Given the description of an element on the screen output the (x, y) to click on. 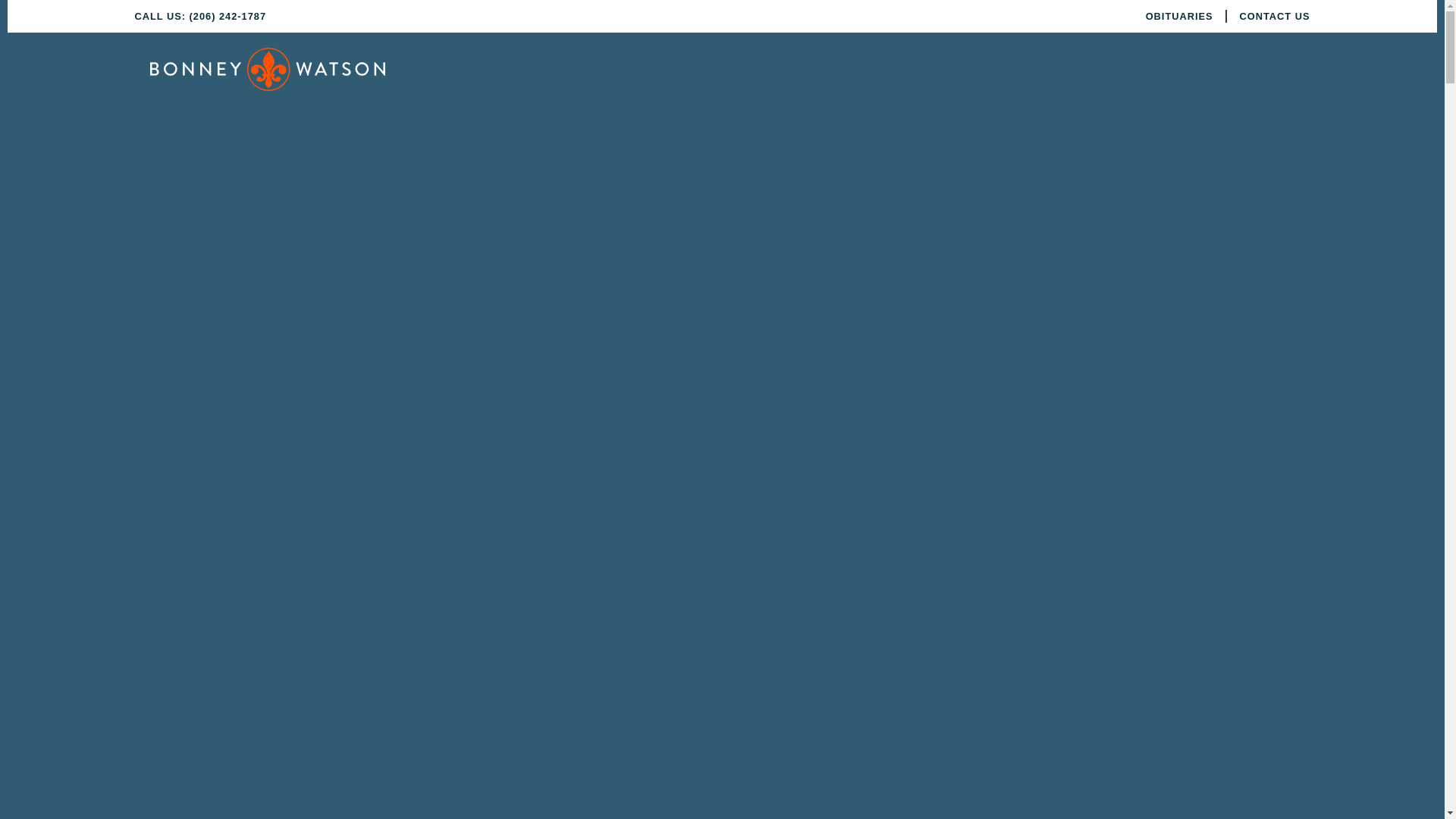
CONTACT US (1275, 16)
OBITUARIES (1178, 16)
